Given the description of an element on the screen output the (x, y) to click on. 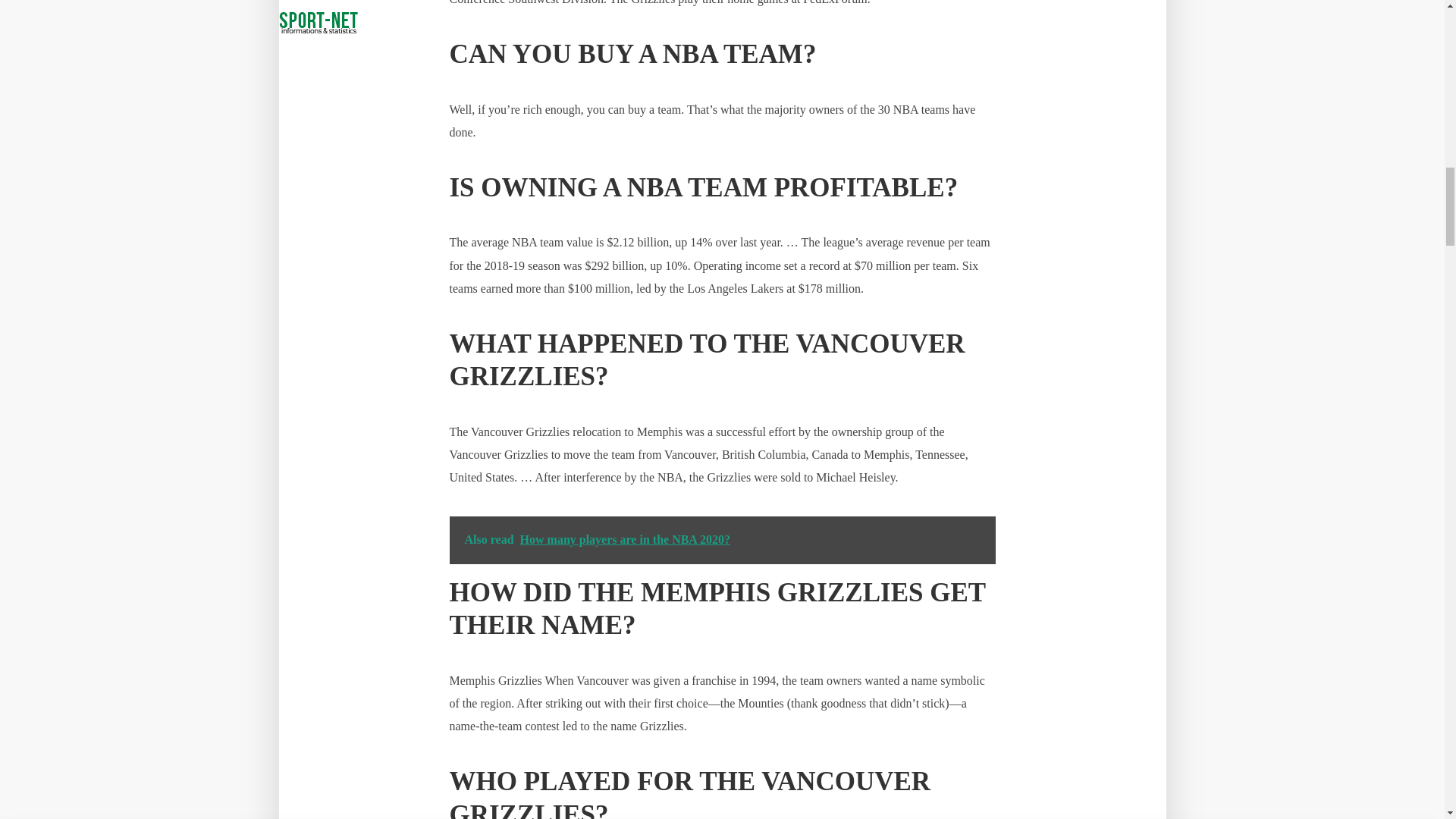
Also read  How many players are in the NBA 2020? (721, 539)
